Given the description of an element on the screen output the (x, y) to click on. 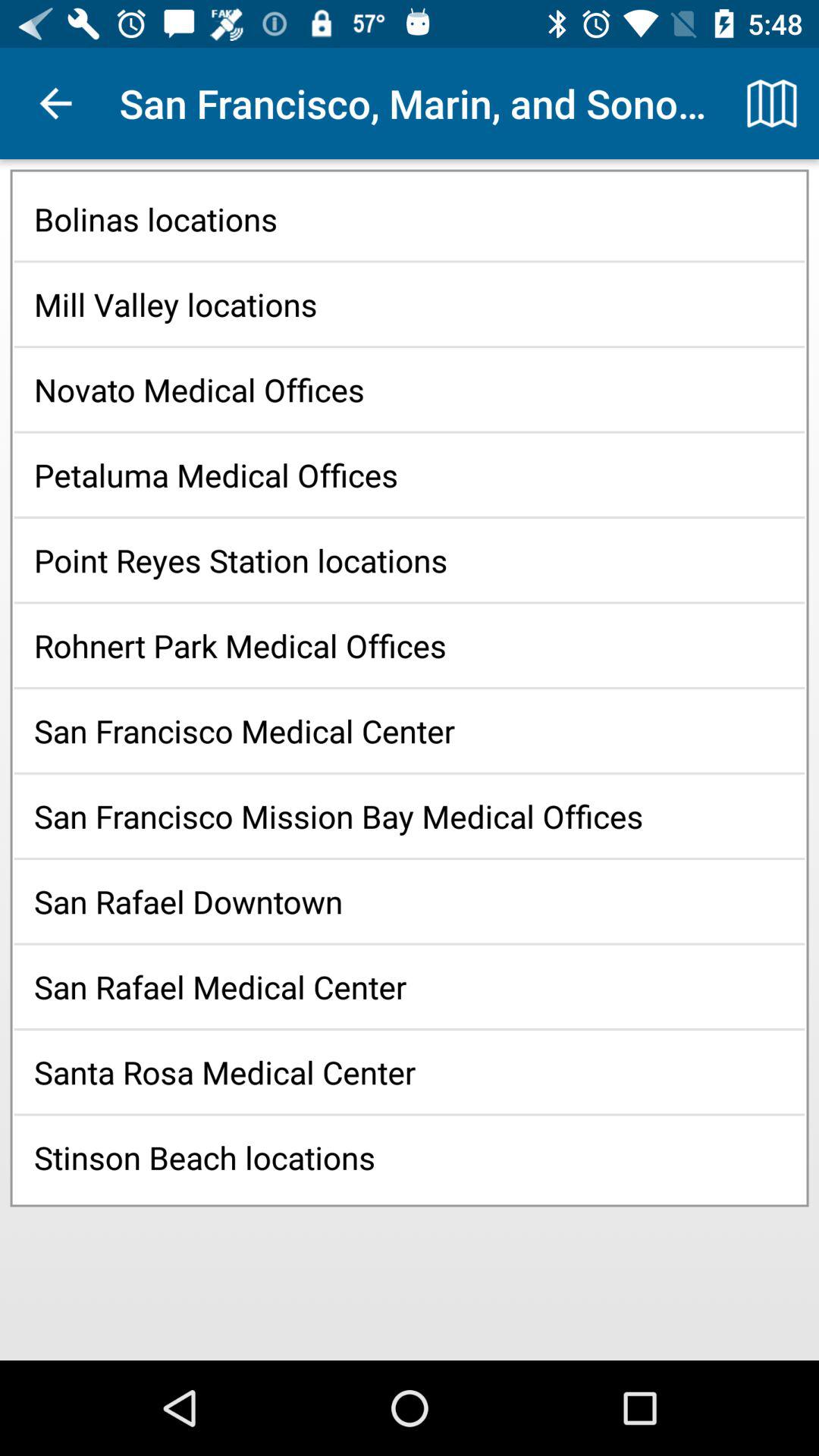
swipe to the novato medical offices item (409, 389)
